Given the description of an element on the screen output the (x, y) to click on. 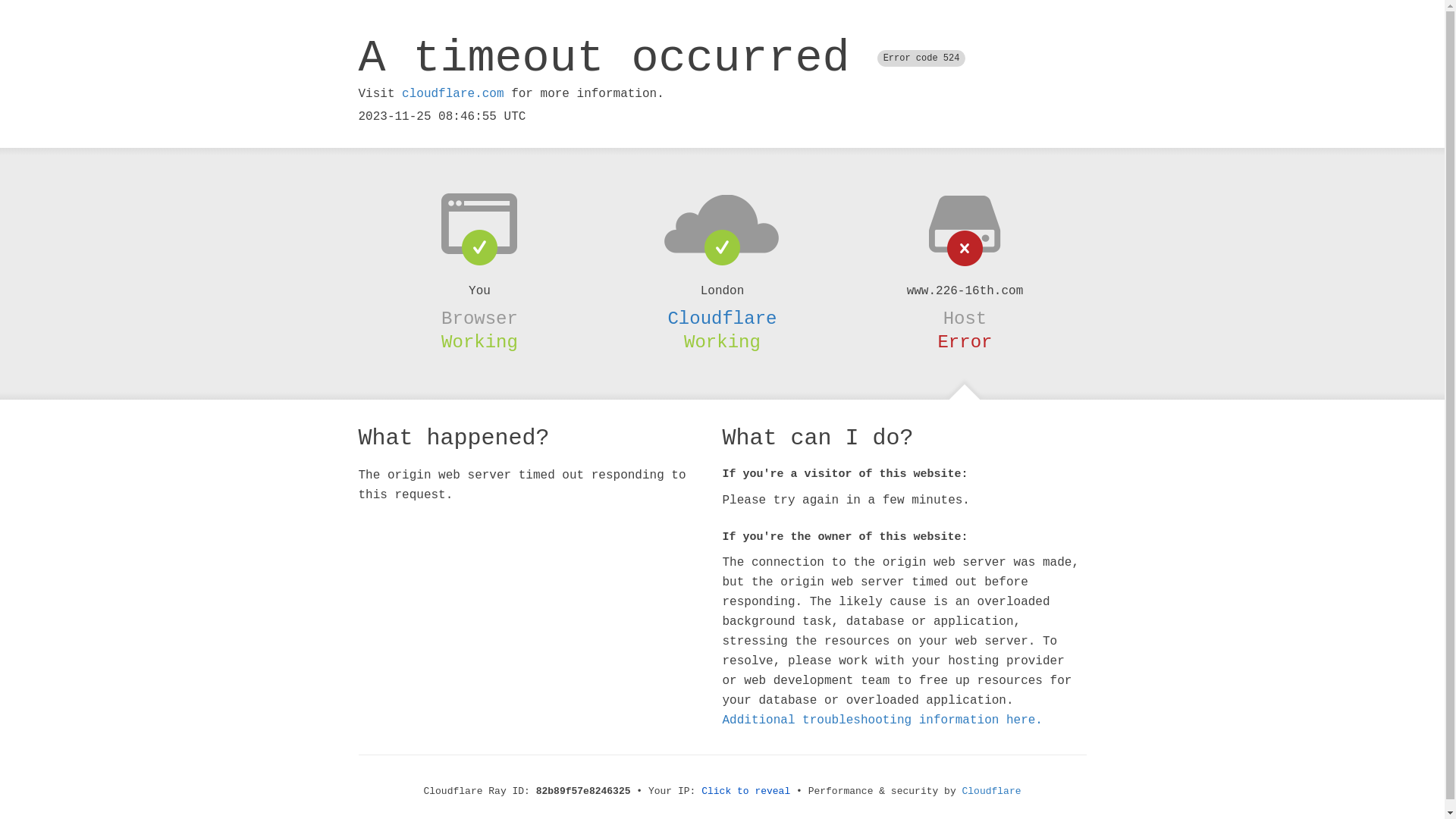
Cloudflare Element type: text (991, 791)
cloudflare.com Element type: text (452, 93)
Cloudflare Element type: text (721, 318)
Click to reveal Element type: text (745, 791)
Additional troubleshooting information here. Element type: text (881, 720)
